Given the description of an element on the screen output the (x, y) to click on. 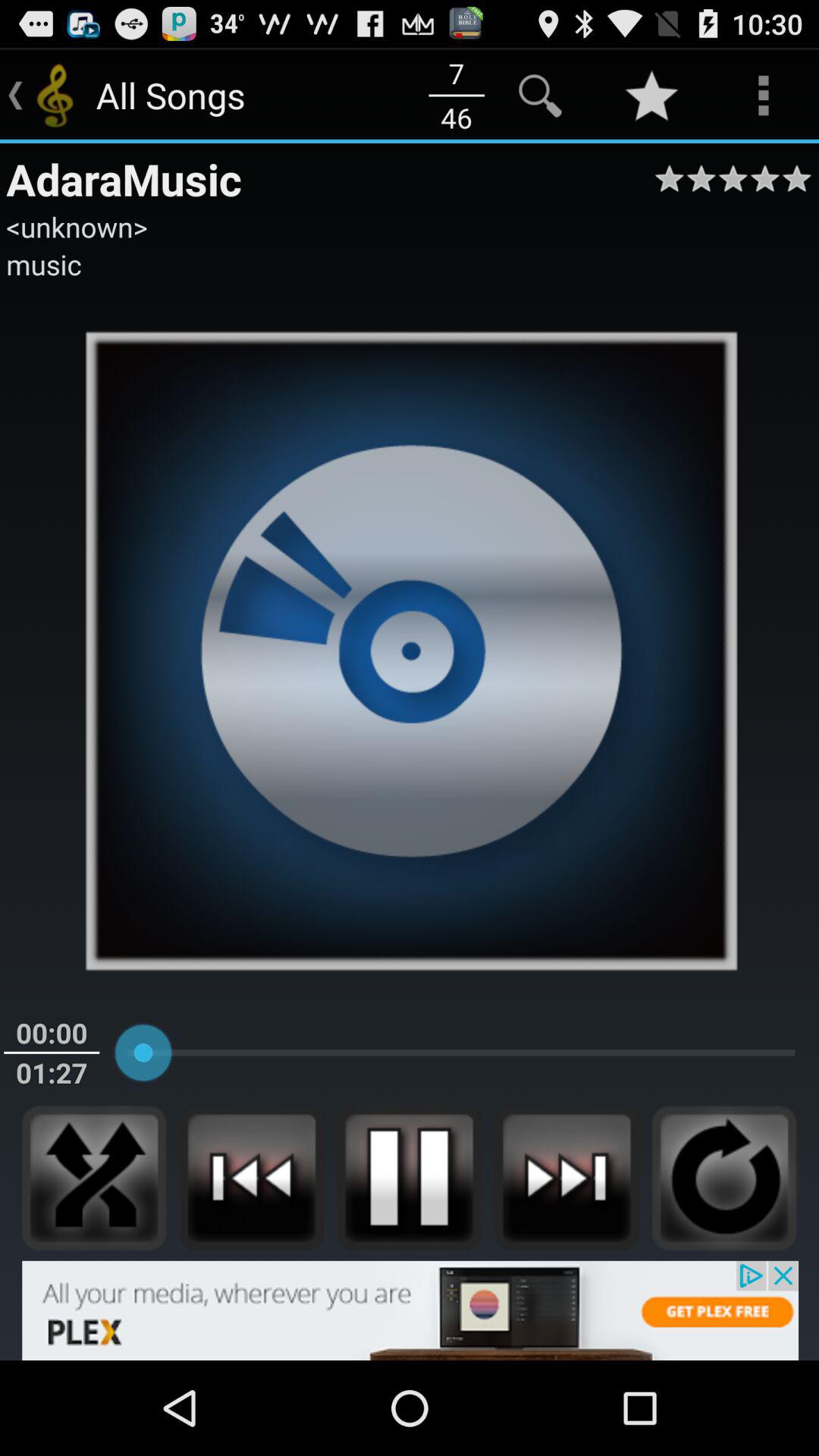
plex advertisement link (409, 1310)
